Given the description of an element on the screen output the (x, y) to click on. 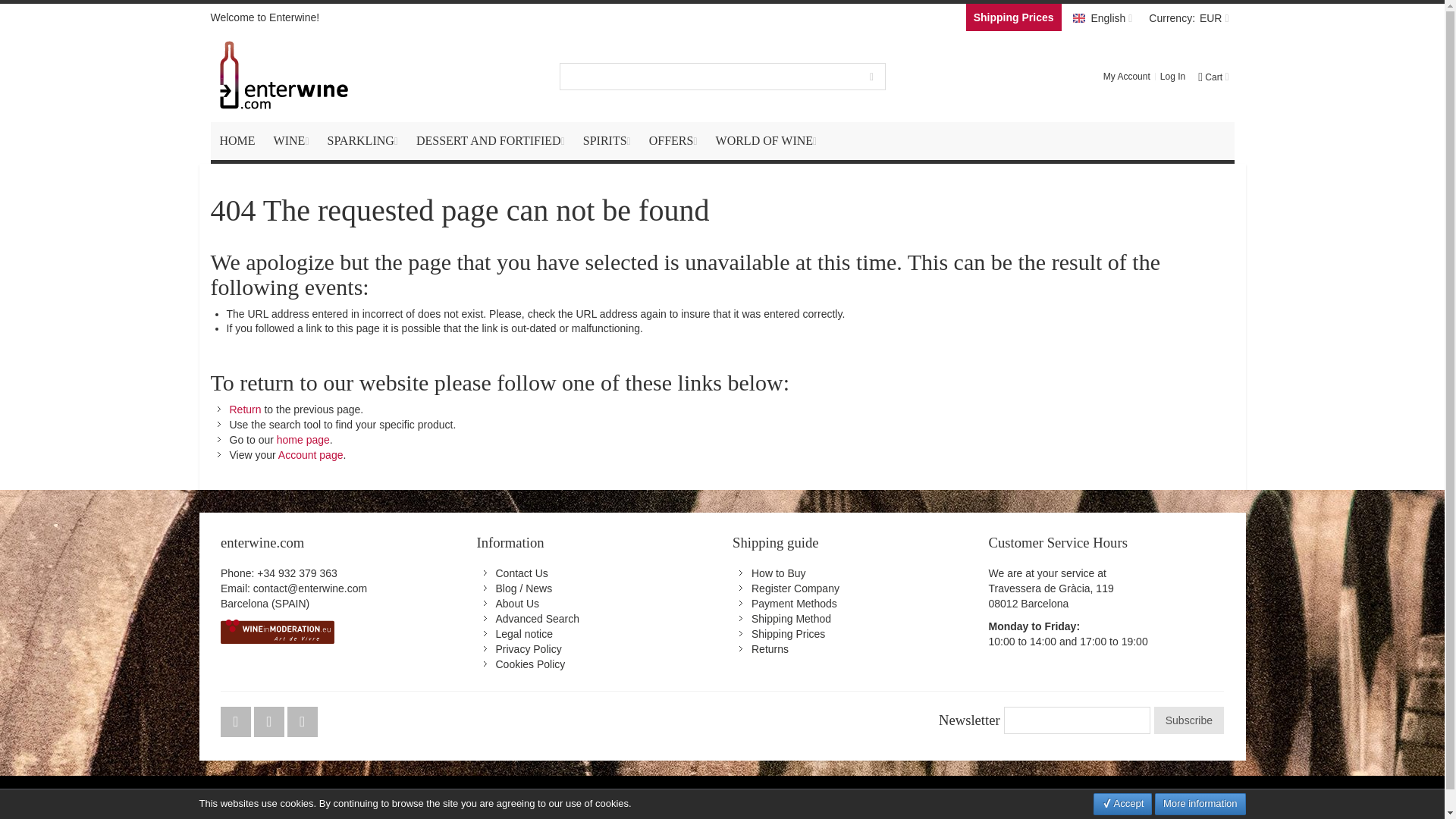
About Us (518, 603)
Cart (1212, 76)
Cookies Policy (531, 664)
Shipping Method (791, 618)
Currency: EUR (1187, 17)
Shipping Prices (788, 633)
Log In (1172, 76)
SPARKLING (362, 140)
My Account (1126, 76)
Shipping Prices (1013, 17)
Legal notice (524, 633)
Log In (1172, 76)
  English (1101, 17)
DESSERT AND FORTIFIED (490, 140)
Shipping Prices (1013, 17)
